Given the description of an element on the screen output the (x, y) to click on. 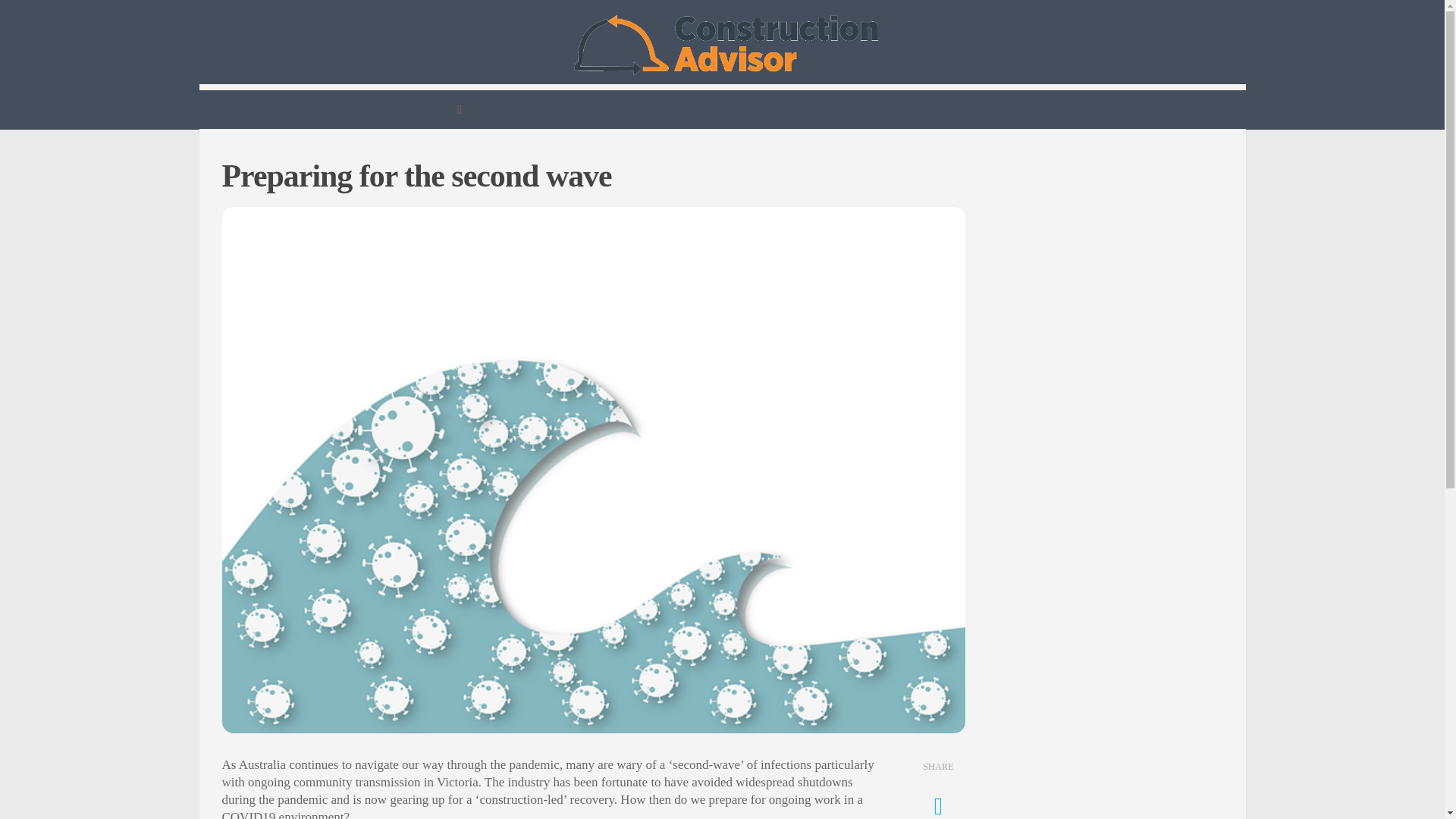
Contact Us (515, 108)
Wellbeing (427, 109)
Skip to content (59, 20)
About Us (248, 108)
Our Services (335, 108)
